Given the description of an element on the screen output the (x, y) to click on. 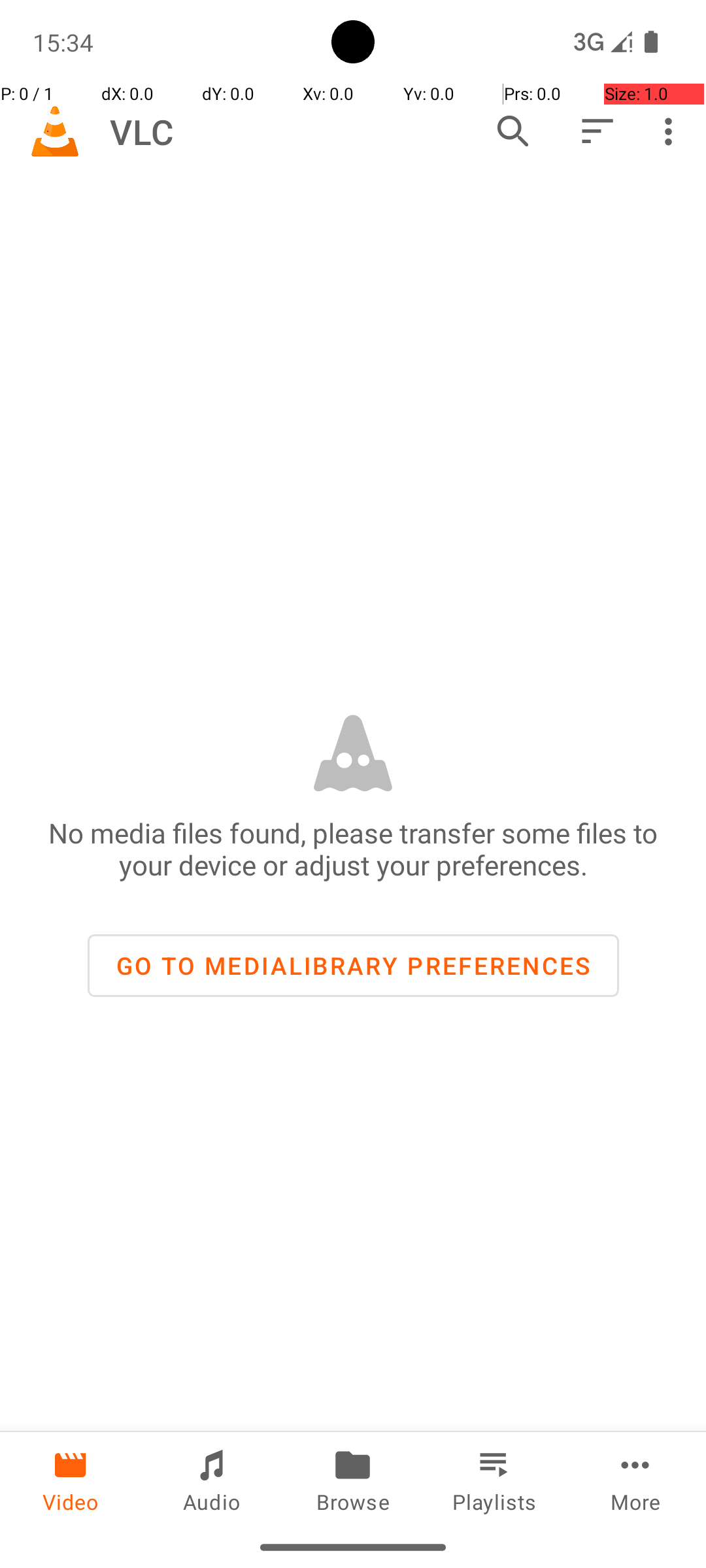
Search… Element type: android.widget.TextView (512, 131)
Sort by… Element type: android.widget.TextView (595, 131)
More options Element type: android.widget.ImageView (671, 131)
No media files found, please transfer some files to your device or adjust your preferences. Element type: android.widget.TextView (352, 848)
GO TO MEDIALIBRARY PREFERENCES Element type: android.widget.Button (353, 965)
Video Element type: android.widget.FrameLayout (70, 1478)
Audio Element type: android.widget.FrameLayout (211, 1478)
Browse Element type: android.widget.FrameLayout (352, 1478)
Playlists Element type: android.widget.FrameLayout (493, 1478)
More Element type: android.widget.FrameLayout (635, 1478)
